Given the description of an element on the screen output the (x, y) to click on. 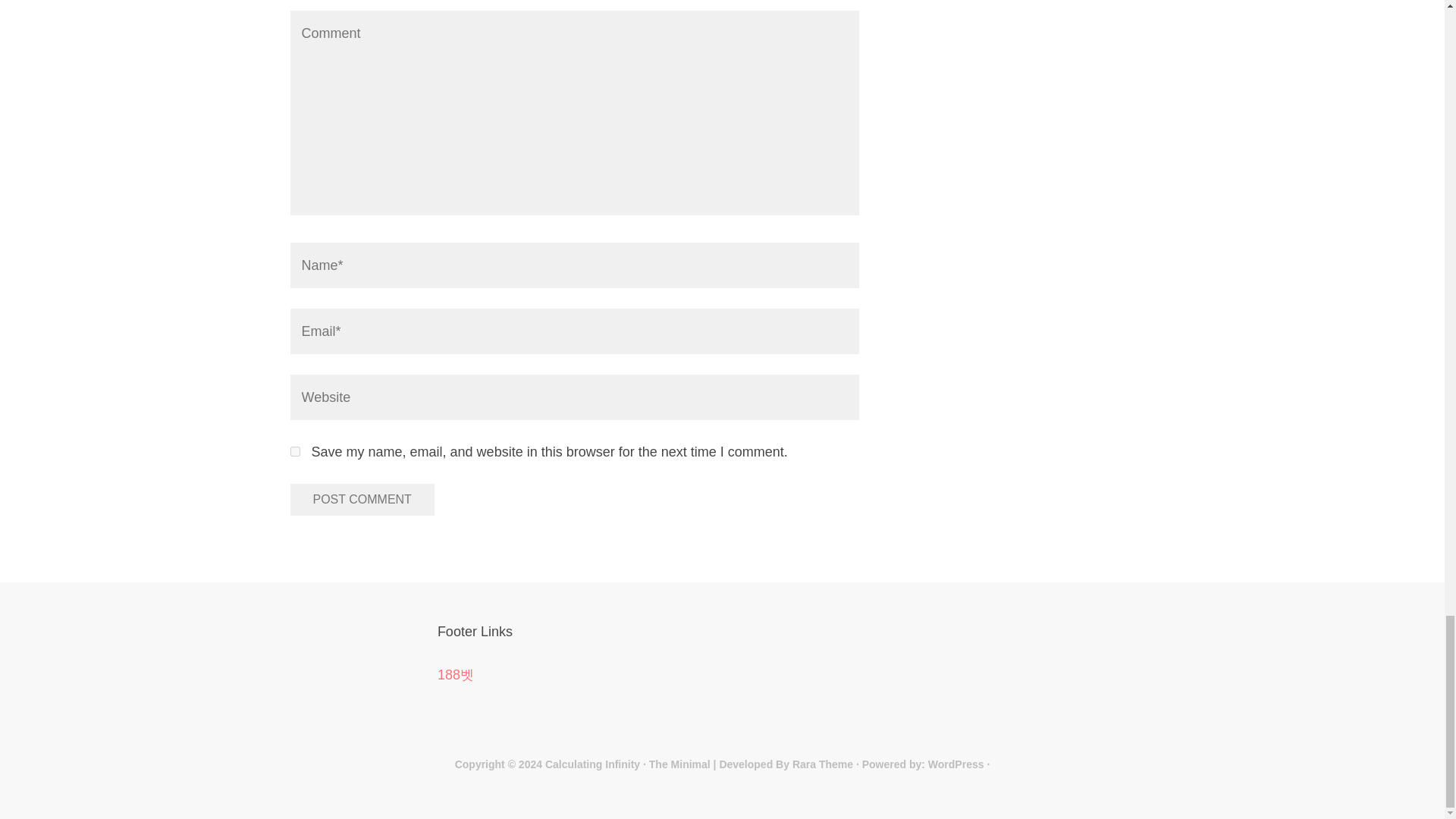
Post Comment (361, 499)
yes (294, 451)
Post Comment (361, 499)
